Given the description of an element on the screen output the (x, y) to click on. 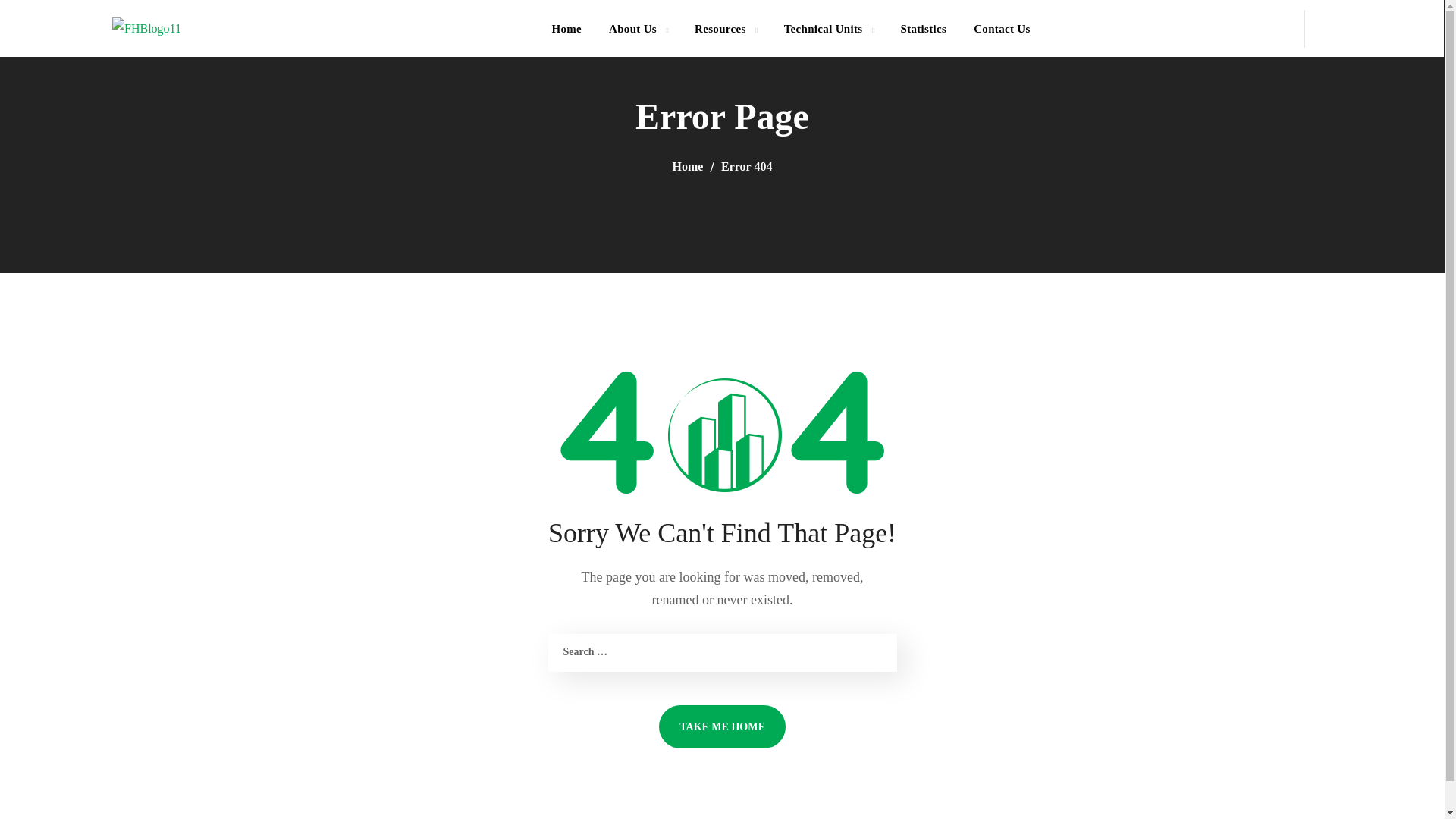
Statistics (922, 28)
About Us (638, 28)
Search (1381, 94)
Contact Us (1001, 28)
Resources (725, 28)
Home (566, 28)
FHBlogo11 (146, 28)
Technical Units (828, 28)
